Given the description of an element on the screen output the (x, y) to click on. 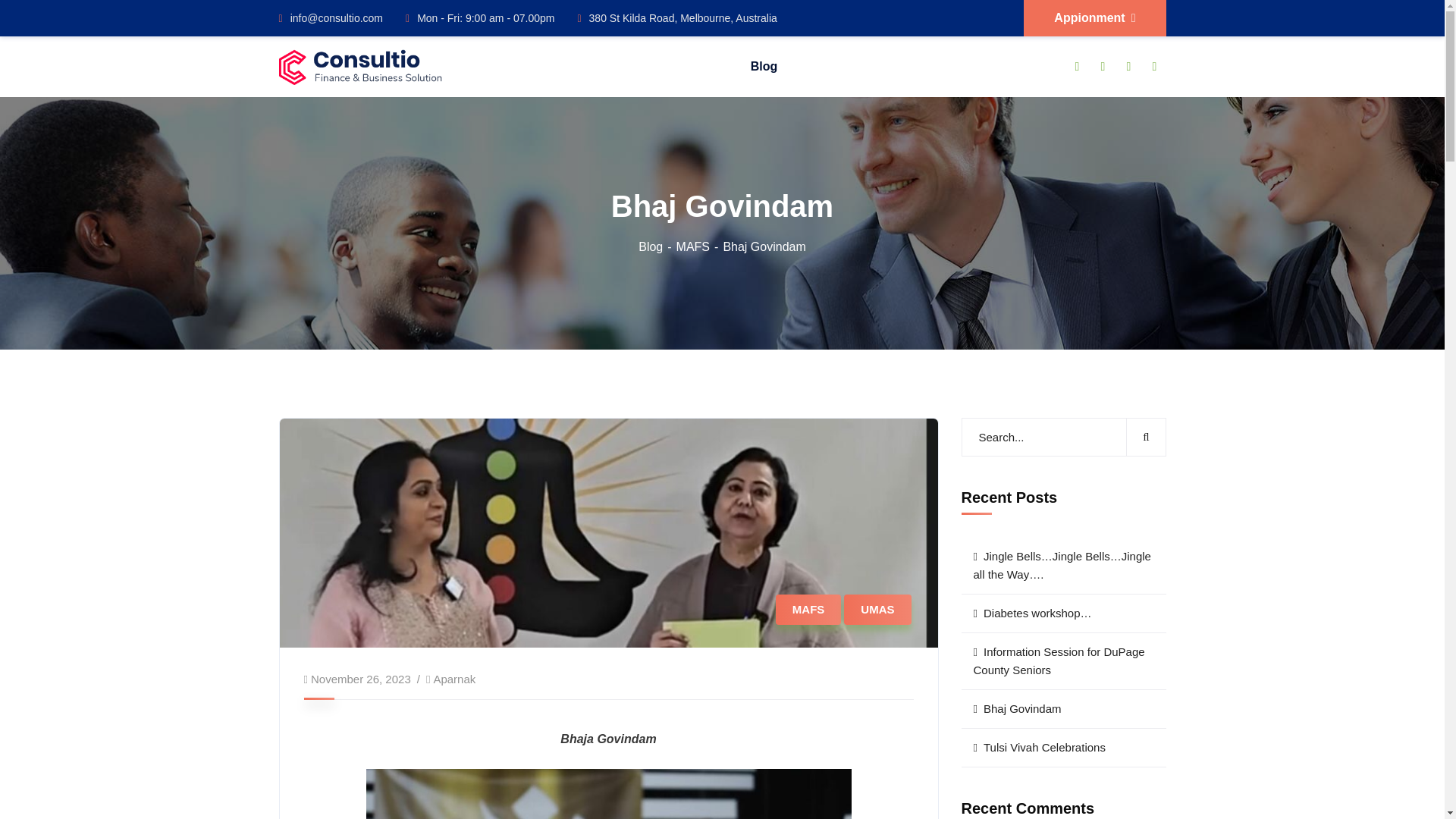
Information Session for DuPage County Seniors (1063, 661)
UMAS (877, 609)
Tulsi Vivah Celebrations (1063, 747)
Bhaj Govindam (1063, 709)
380 St Kilda Road, Melbourne, Australia (676, 18)
Aparnak (454, 678)
MAFS (700, 246)
Blog (657, 246)
Posts by aparnak (454, 678)
MAFS (808, 609)
